Given the description of an element on the screen output the (x, y) to click on. 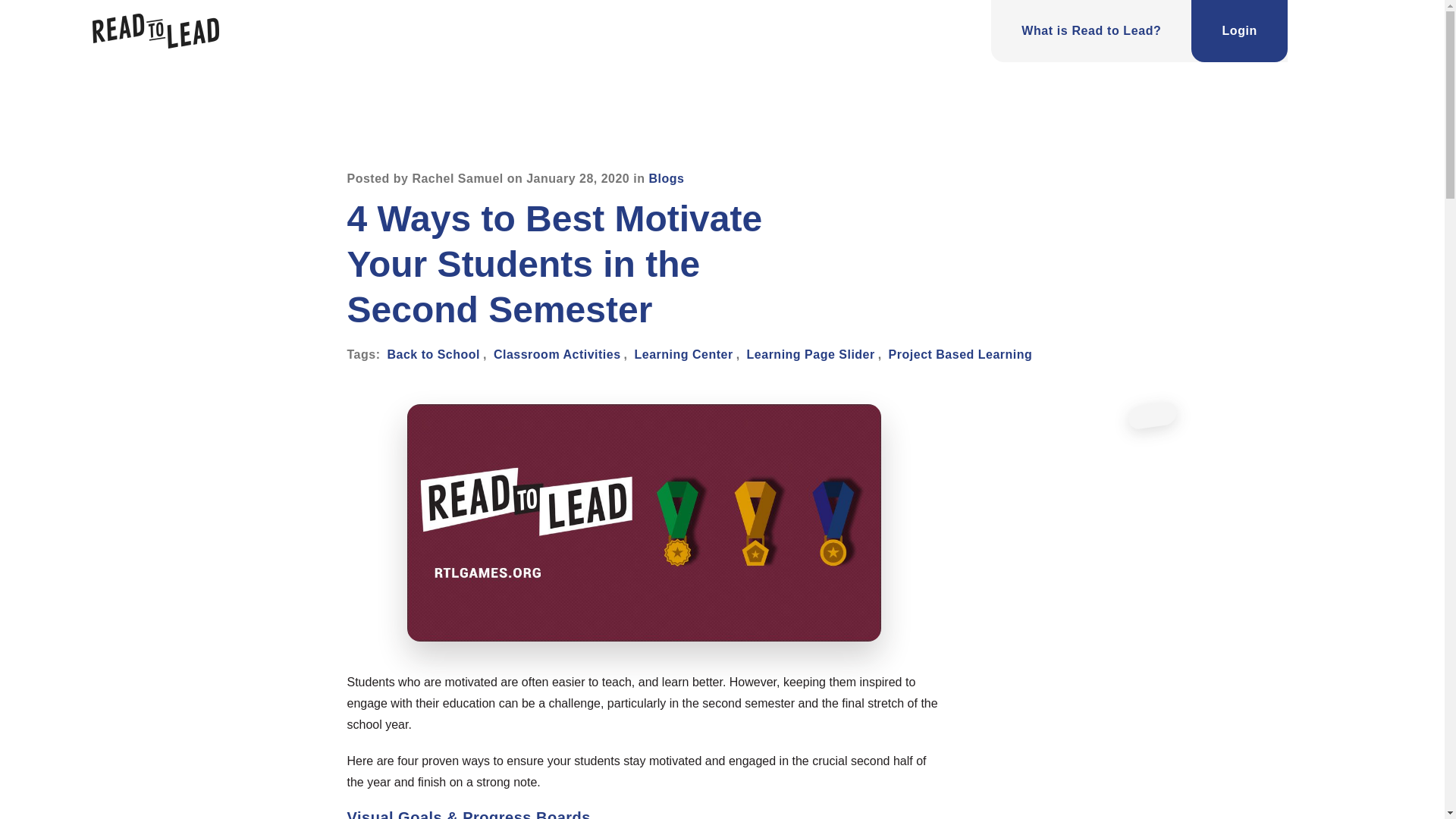
Blogs (665, 178)
What is Read to Lead? (1091, 31)
Back to School (433, 354)
Project Based Learning (960, 354)
Classroom Activities (557, 354)
Login (1239, 31)
Learning Center (682, 354)
Learning Page Slider (810, 354)
